Given the description of an element on the screen output the (x, y) to click on. 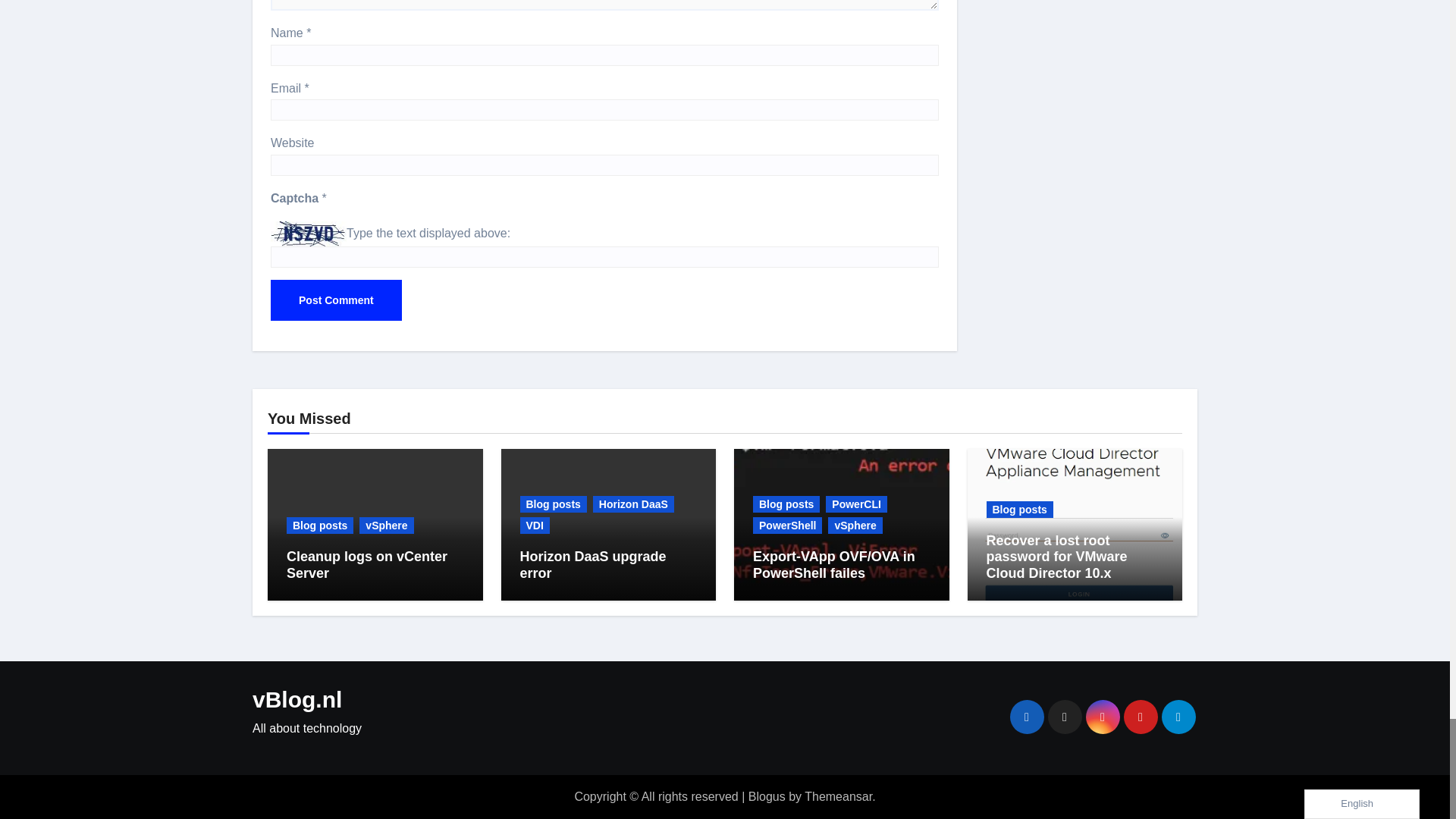
Post Comment (335, 300)
